Given the description of an element on the screen output the (x, y) to click on. 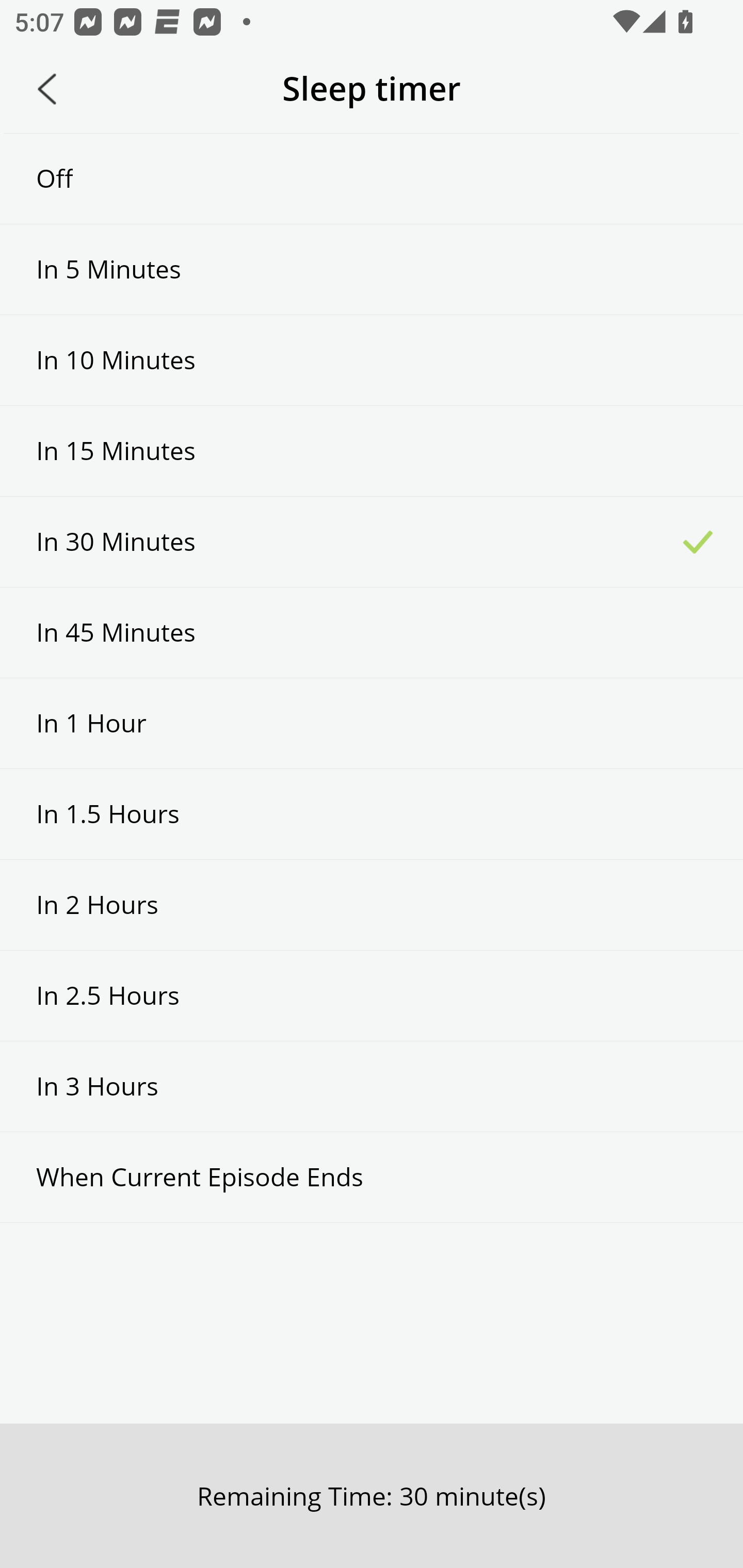
Back (46, 88)
Off (371, 178)
In 5 Minutes (371, 269)
In 10 Minutes (371, 360)
In 15 Minutes (371, 450)
In 30 Minutes (371, 541)
In 45 Minutes (371, 632)
In 1 Hour (371, 723)
In 1.5 Hours (371, 813)
In 2 Hours (371, 904)
In 2.5 Hours (371, 995)
In 3 Hours (371, 1086)
When Current Episode Ends (371, 1177)
